Given the description of an element on the screen output the (x, y) to click on. 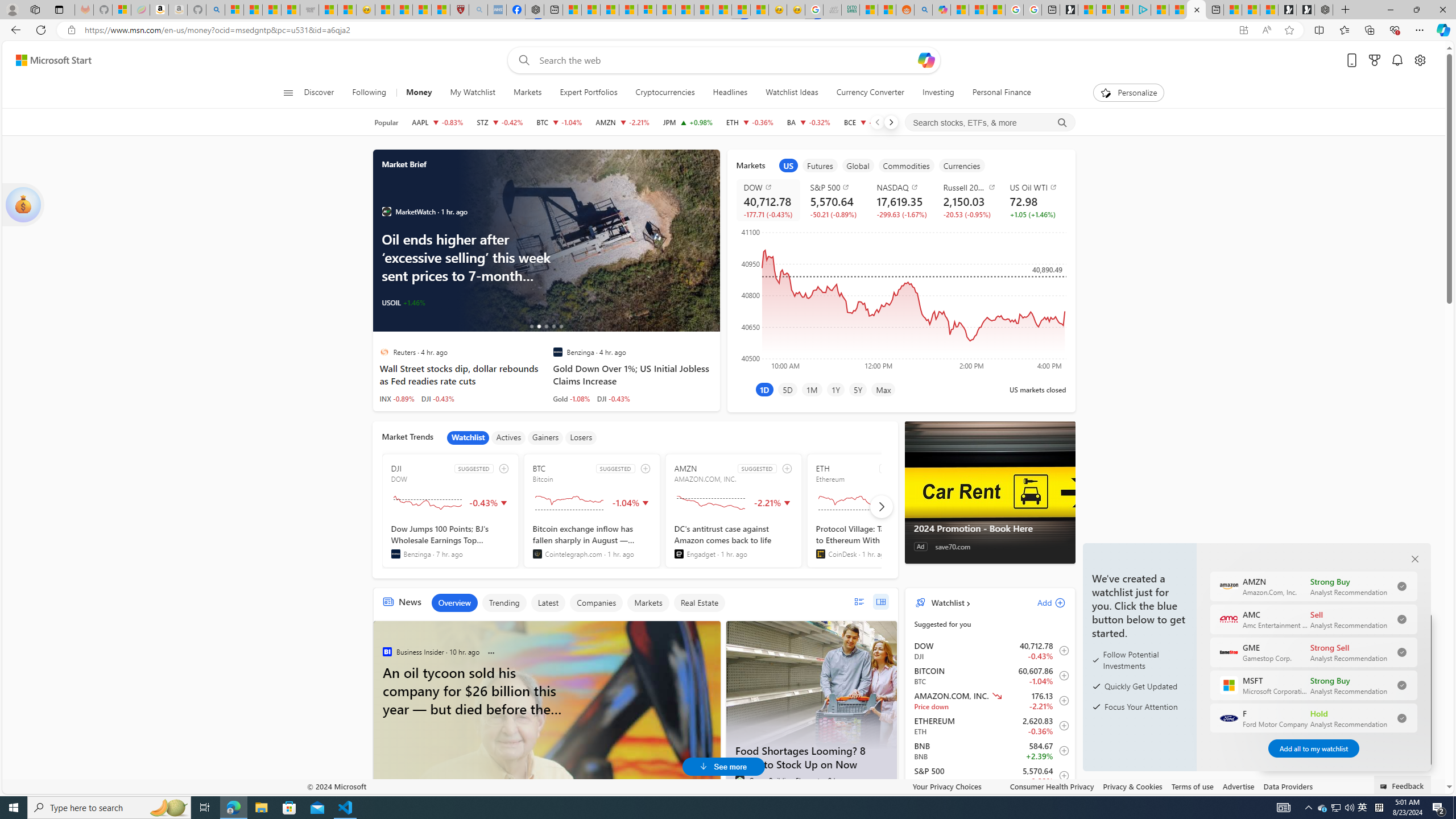
Russell 2000 (969, 187)
S&P 500 INX decrease 5,570.64 -50.21 -0.89% (834, 200)
Add to Watchlist (1061, 775)
Data Providers (1288, 785)
Notifications (1397, 60)
Headlines (730, 92)
Add (1041, 602)
Cryptocurrencies (664, 92)
Data Providers (1288, 786)
Currency Converter (869, 92)
Russell 2000 RUT decrease 2,150.03 -20.53 -0.95% (968, 200)
